Given the description of an element on the screen output the (x, y) to click on. 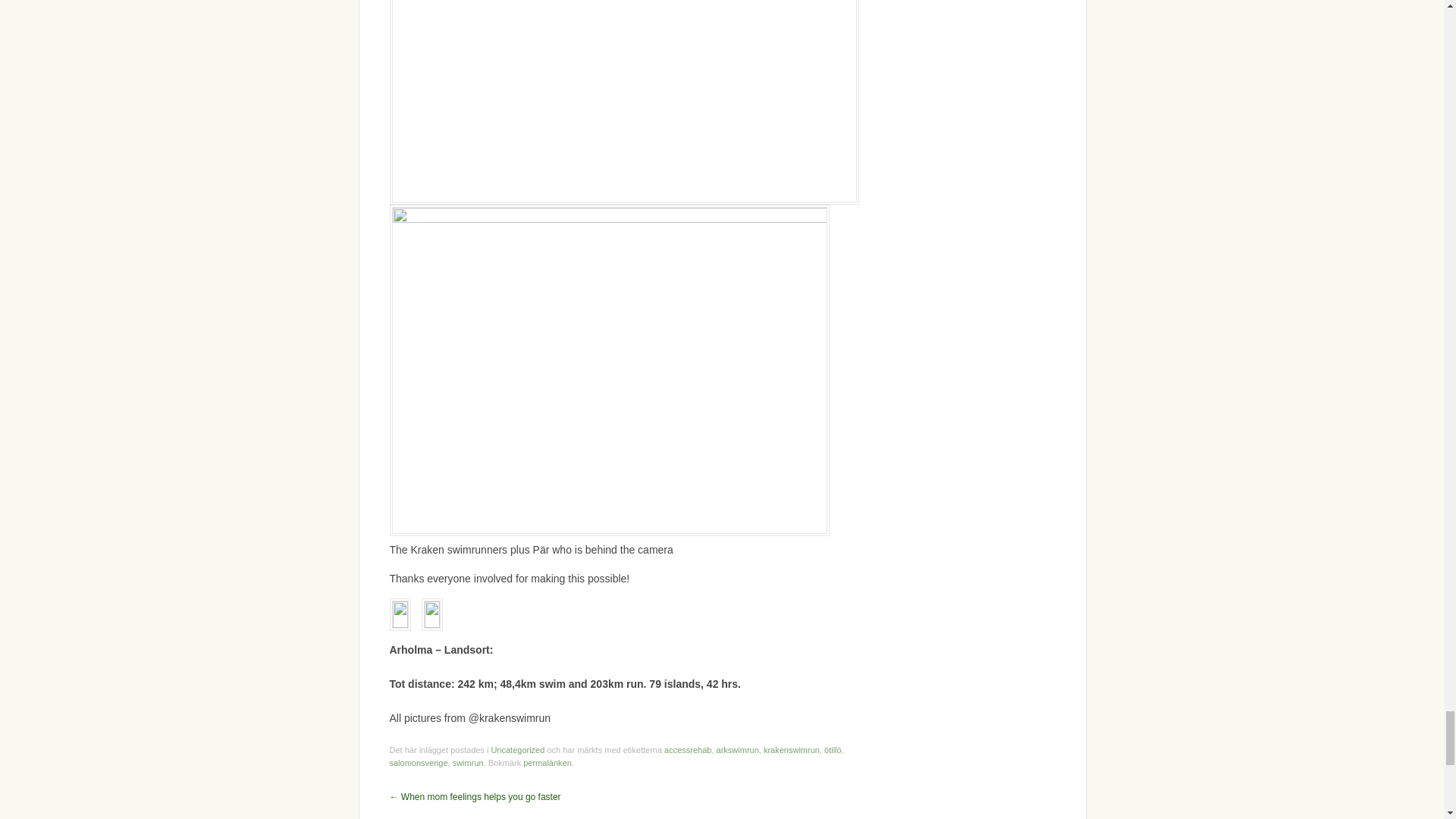
Uncategorized (517, 749)
salomonsverige (419, 762)
accessrehab (687, 749)
arkswimrun (737, 749)
krakenswimrun (790, 749)
swimrun (467, 762)
